Given the description of an element on the screen output the (x, y) to click on. 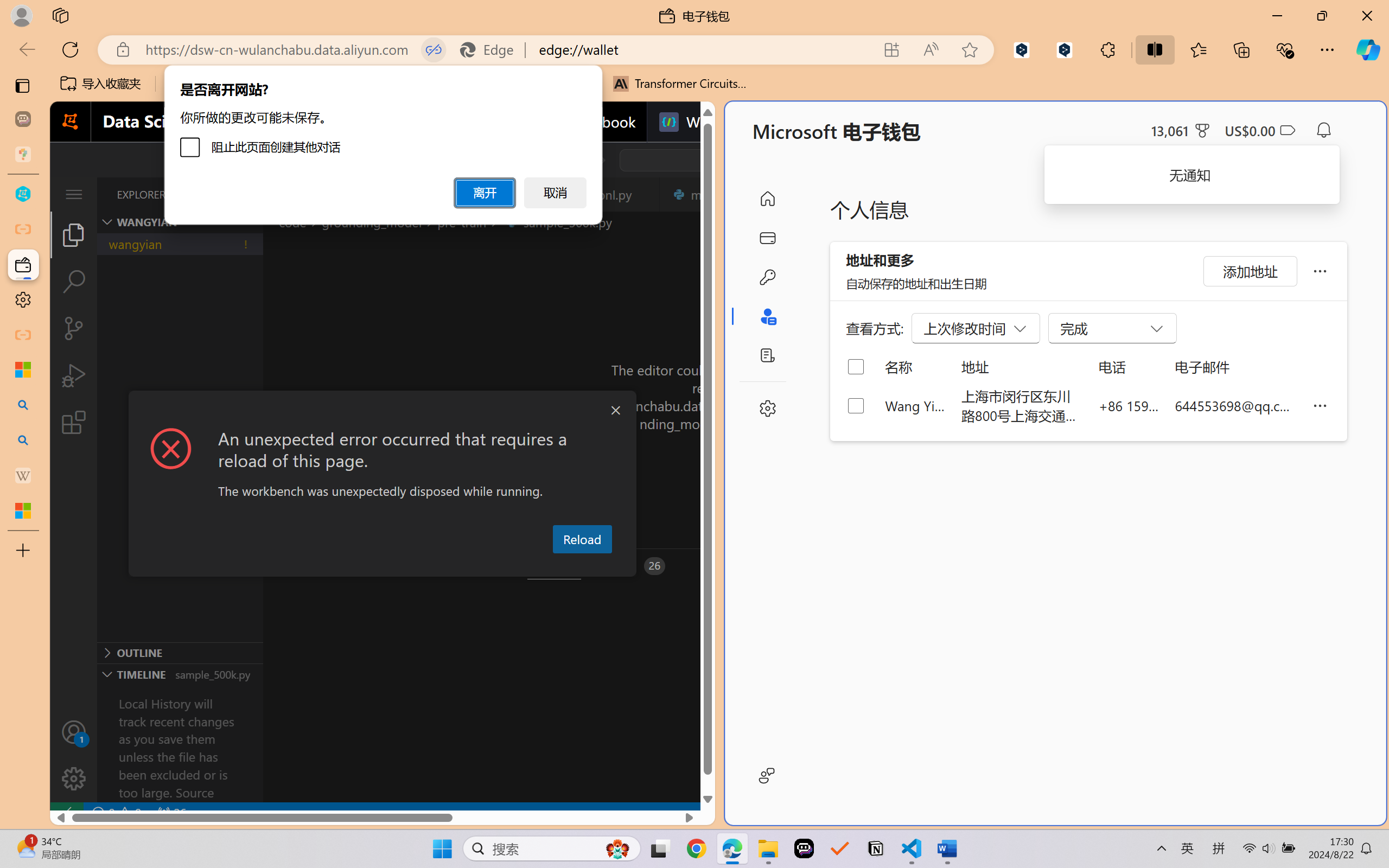
Class: menubar compact overflow-menu-only (73, 194)
Timeline Section (179, 673)
Debug Console (Ctrl+Shift+Y) (463, 565)
Google Chrome (696, 848)
